Given the description of an element on the screen output the (x, y) to click on. 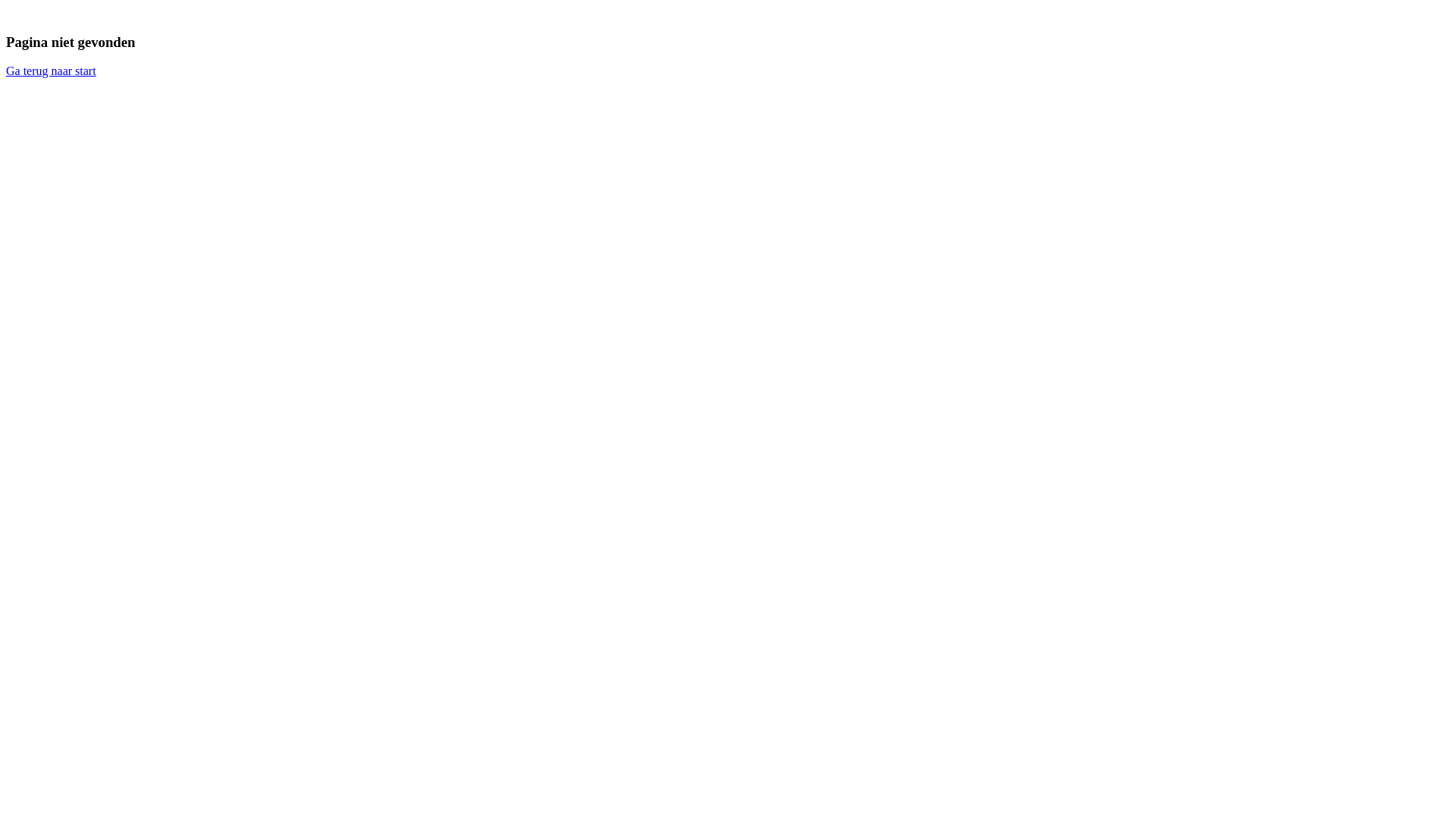
Ga terug naar start Element type: text (51, 70)
